Given the description of an element on the screen output the (x, y) to click on. 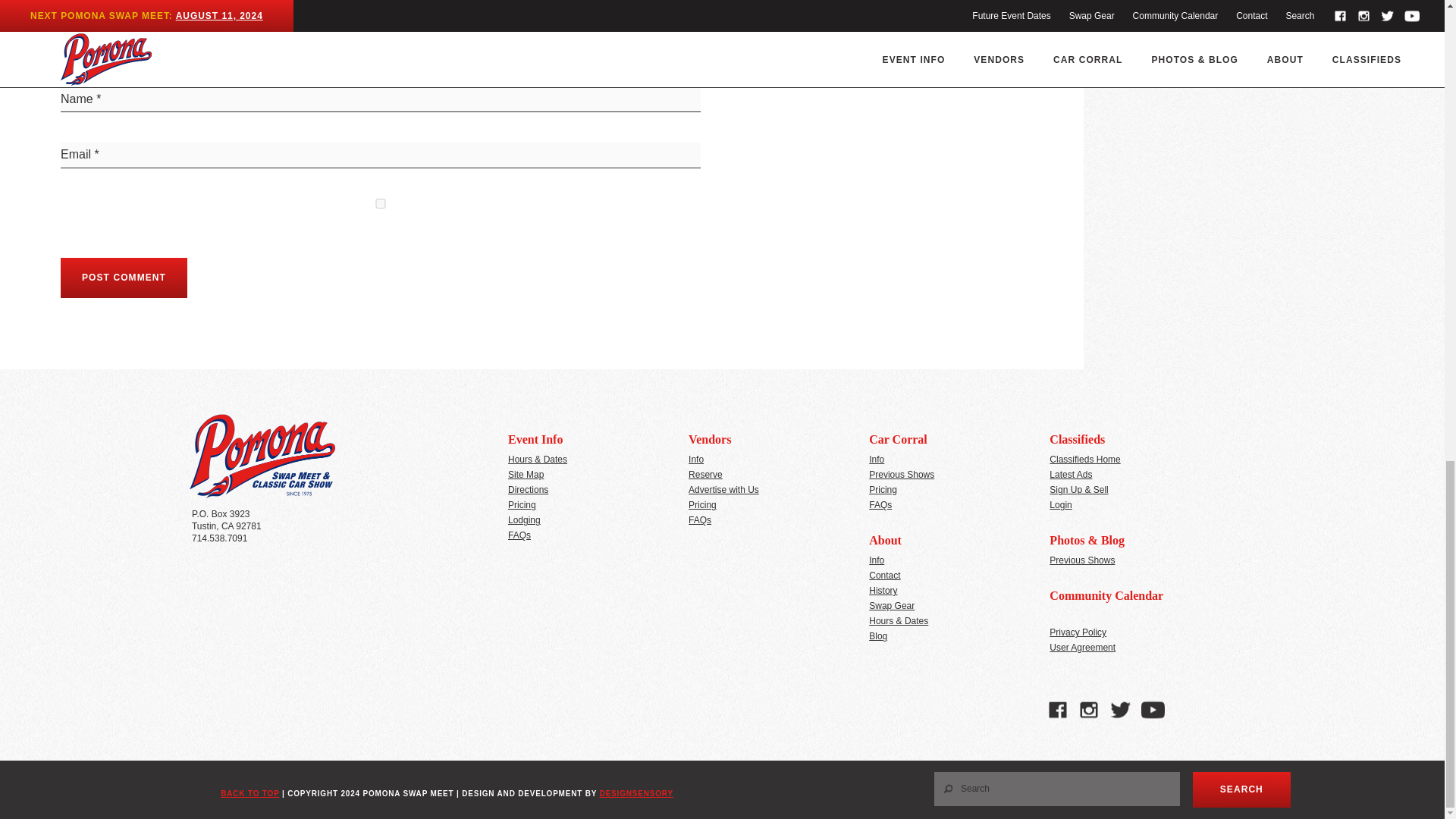
Search (1241, 789)
yes (380, 203)
Post Comment (124, 277)
